Given the description of an element on the screen output the (x, y) to click on. 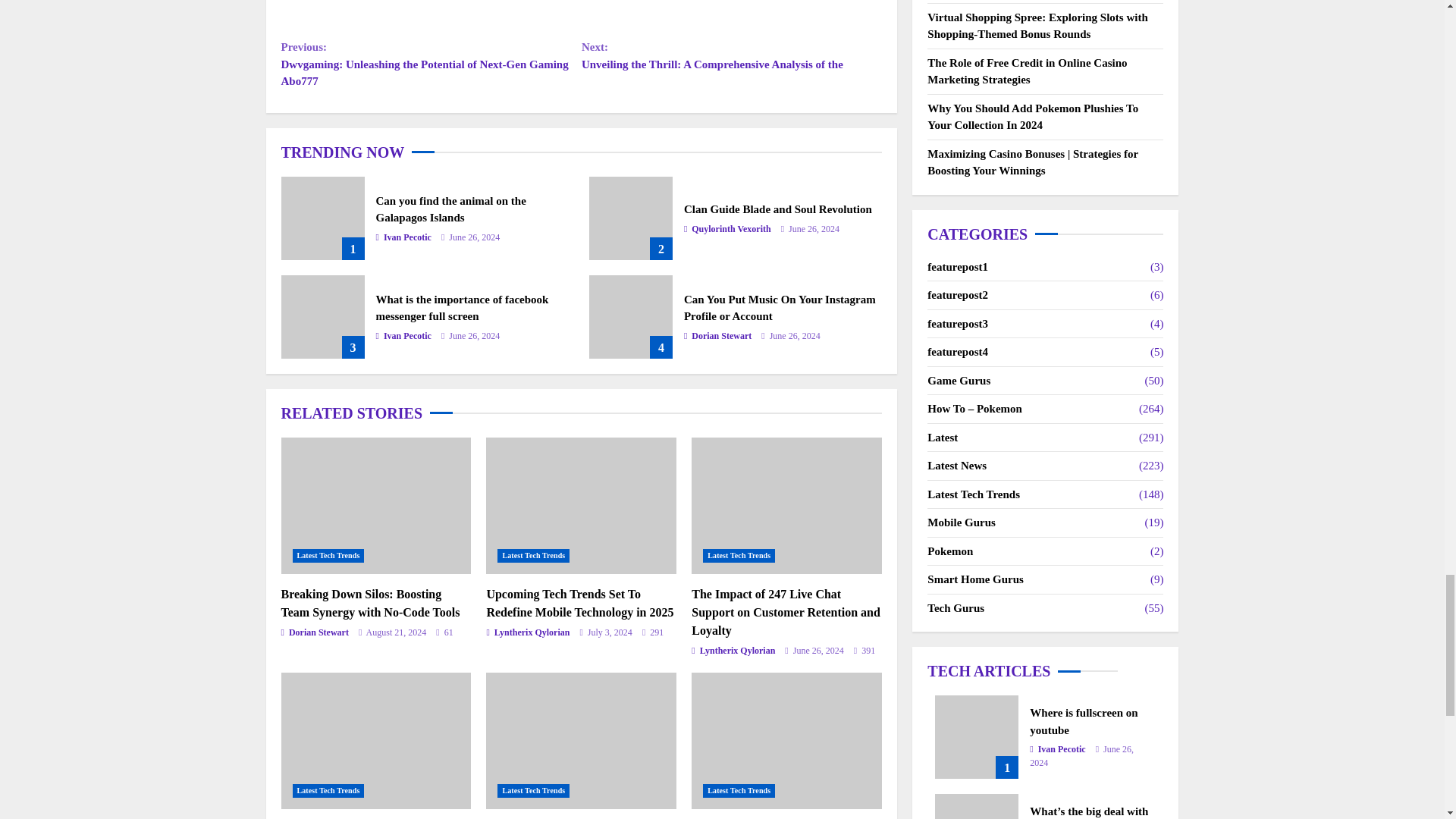
Can you find the animal on the Galapagos Islands (322, 218)
Ivan Pecotic (402, 237)
Can You Put Music On Your Instagram Profile or Account (780, 307)
Quylorinth Vexorith (727, 228)
Clan Guide Blade and Soul Revolution (630, 218)
Can You Put Music On Your Instagram Profile or Account (630, 316)
Can you find the animal on the Galapagos Islands (450, 209)
What is the importance of facebook messenger full screen (461, 307)
What is the importance of facebook messenger full screen (322, 316)
